Given the description of an element on the screen output the (x, y) to click on. 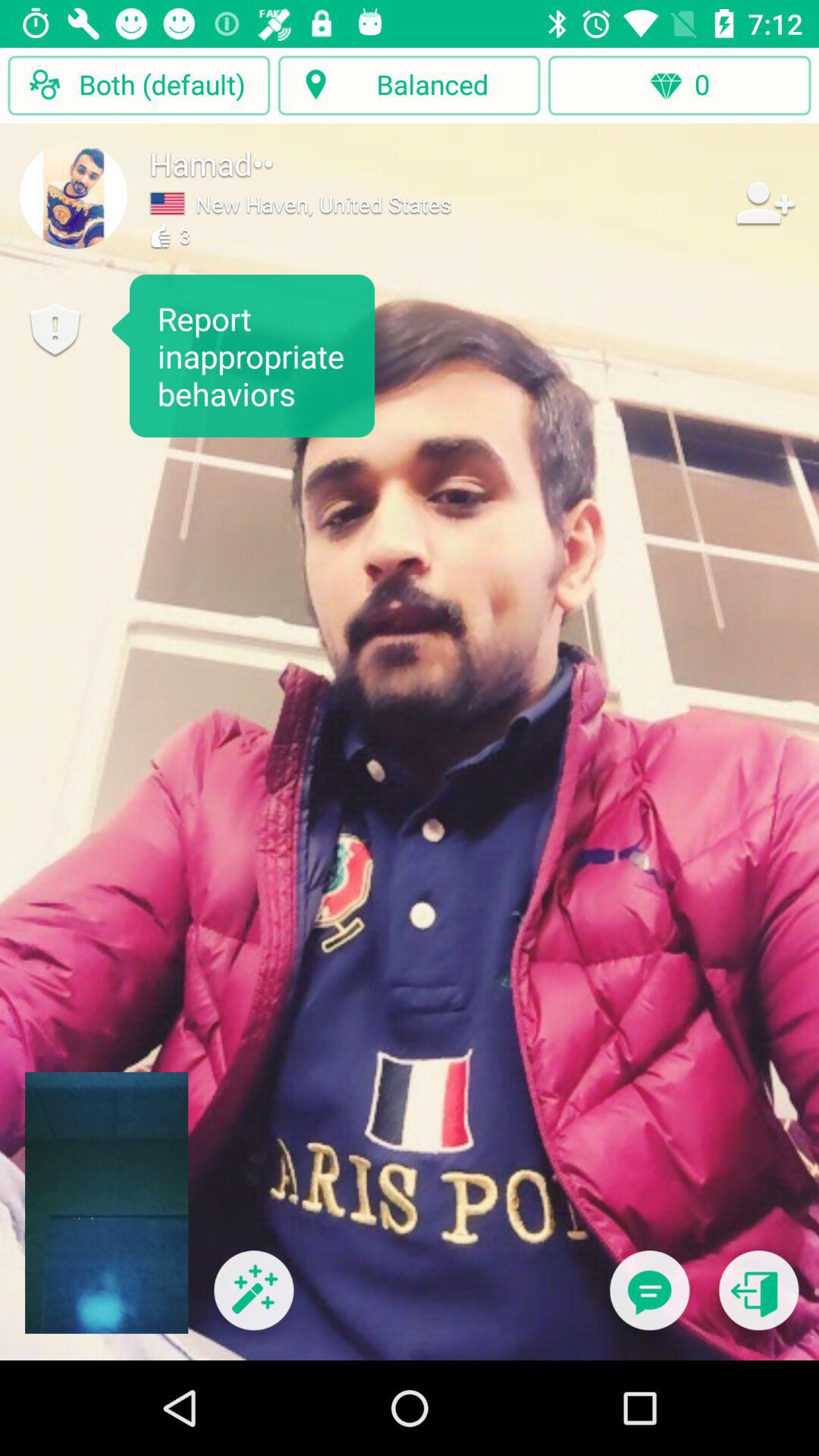
view profile (73, 195)
